Given the description of an element on the screen output the (x, y) to click on. 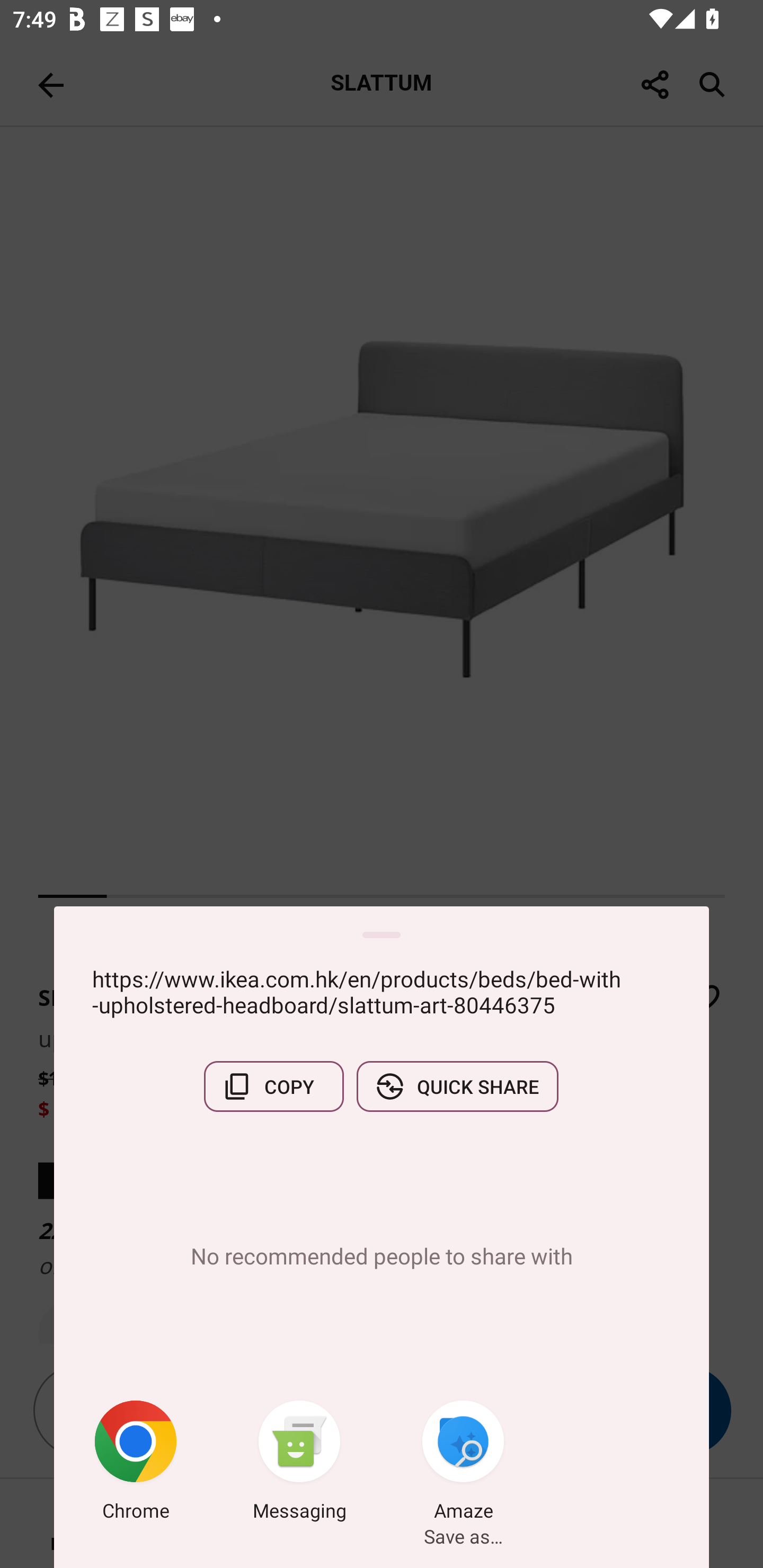
COPY (273, 1086)
QUICK SHARE (457, 1086)
Chrome (135, 1463)
Messaging (299, 1463)
Amaze Save as… (463, 1463)
